Given the description of an element on the screen output the (x, y) to click on. 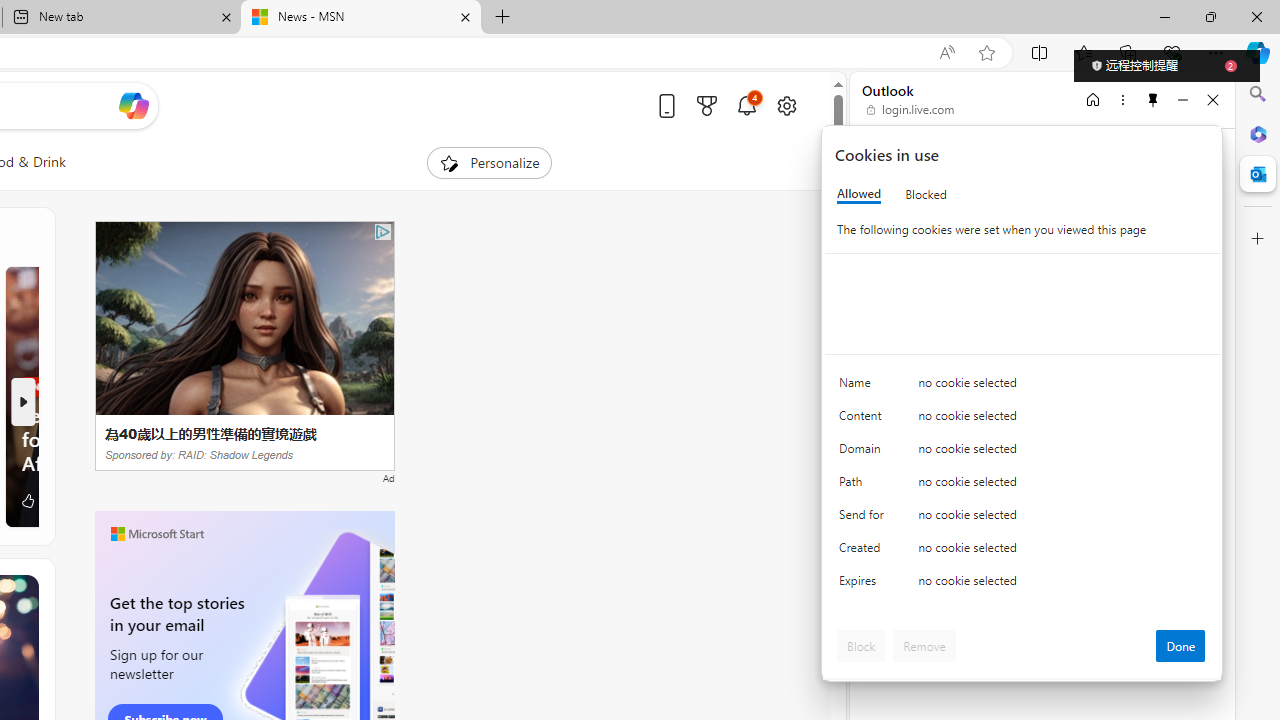
Name (864, 387)
Personalize (488, 162)
Block (861, 645)
Class: c0153 c0157 (1023, 584)
Expires (864, 585)
Microsoft (927, 164)
